Given the description of an element on the screen output the (x, y) to click on. 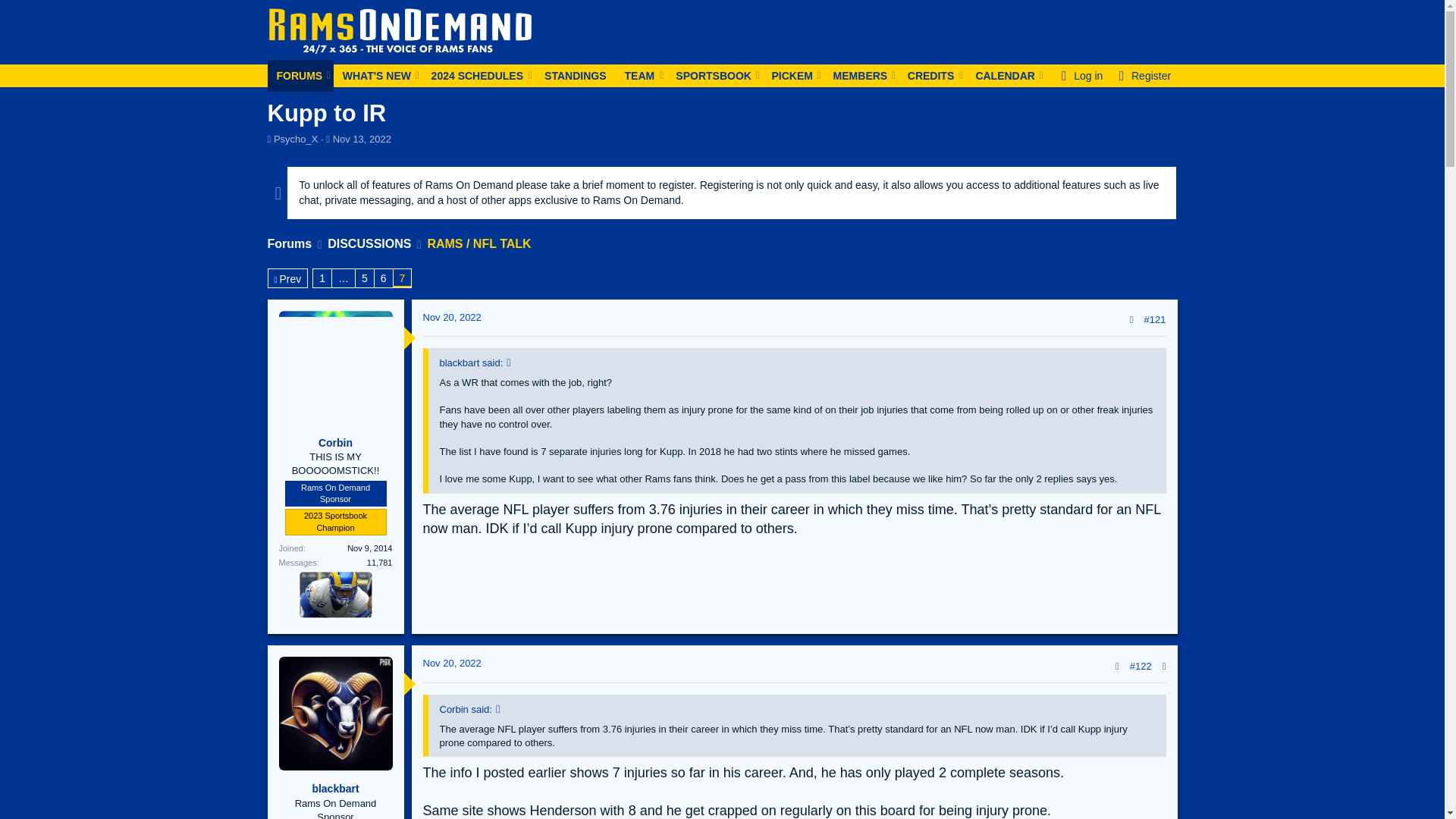
PICKEM (787, 75)
FORUMS (294, 75)
Nov 20, 2022 at 5:36 PM (452, 317)
TEAM (640, 75)
Nov 13, 2022 at 9:21 PM (362, 138)
MEMBERS (856, 75)
Nov 20, 2022 at 8:14 PM (452, 663)
WHAT'S NEW (372, 75)
SPORTSBOOK (709, 75)
